Given the description of an element on the screen output the (x, y) to click on. 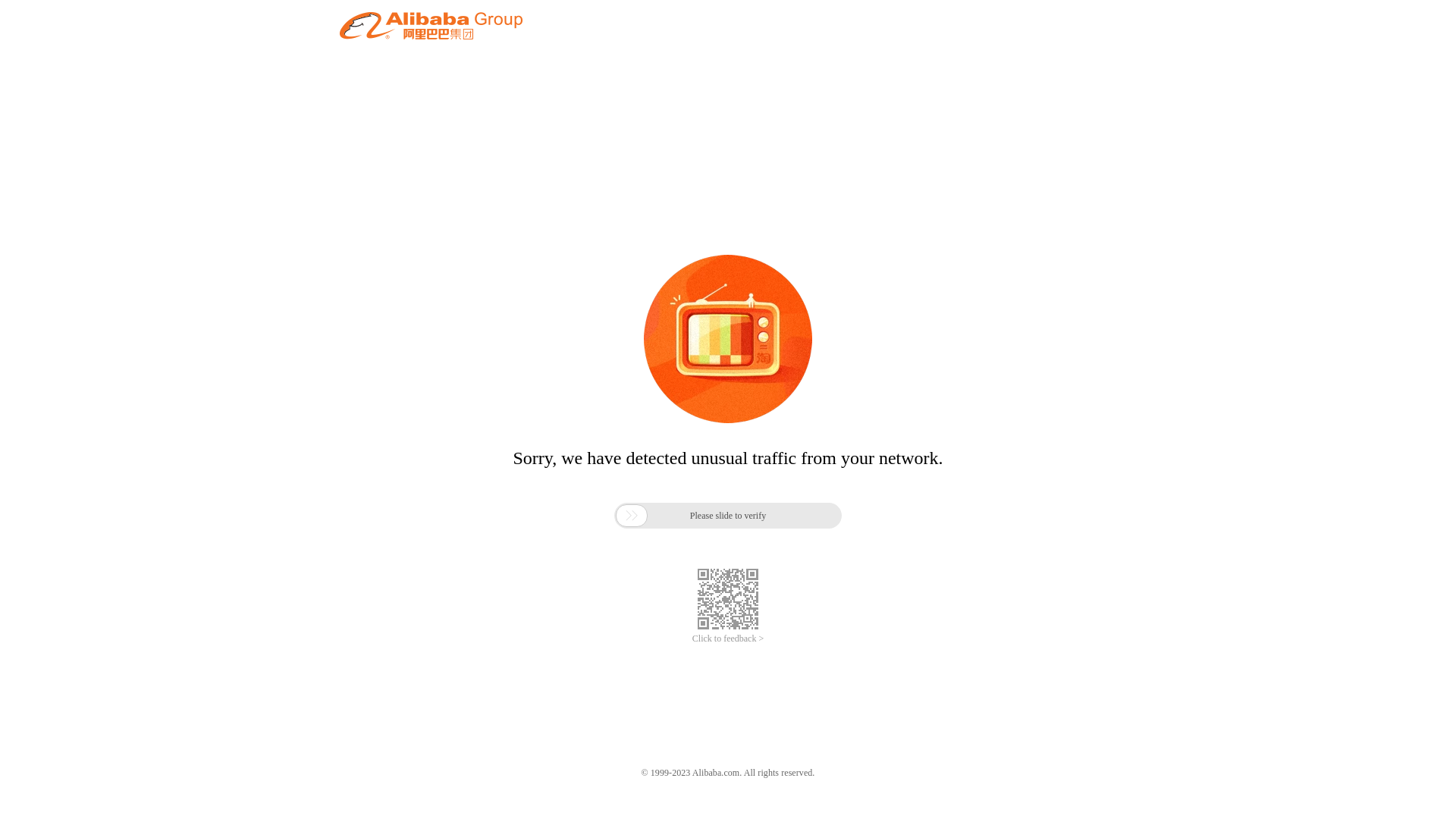
Click to feedback > Element type: text (727, 638)
